Given the description of an element on the screen output the (x, y) to click on. 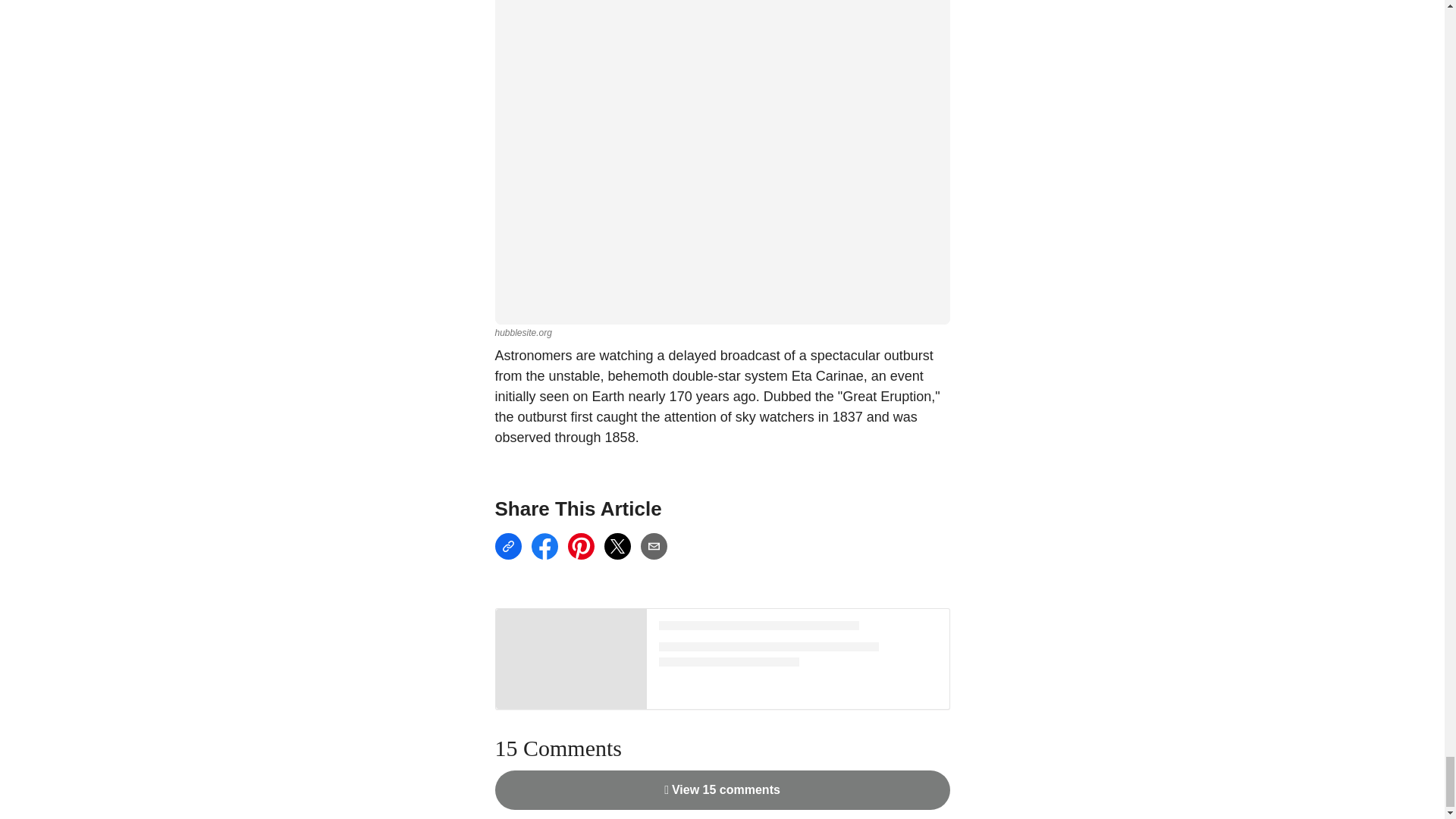
Mail (653, 546)
Pinterest (580, 546)
Link (507, 546)
Twitter (617, 545)
Facebook (544, 546)
